Given the description of an element on the screen output the (x, y) to click on. 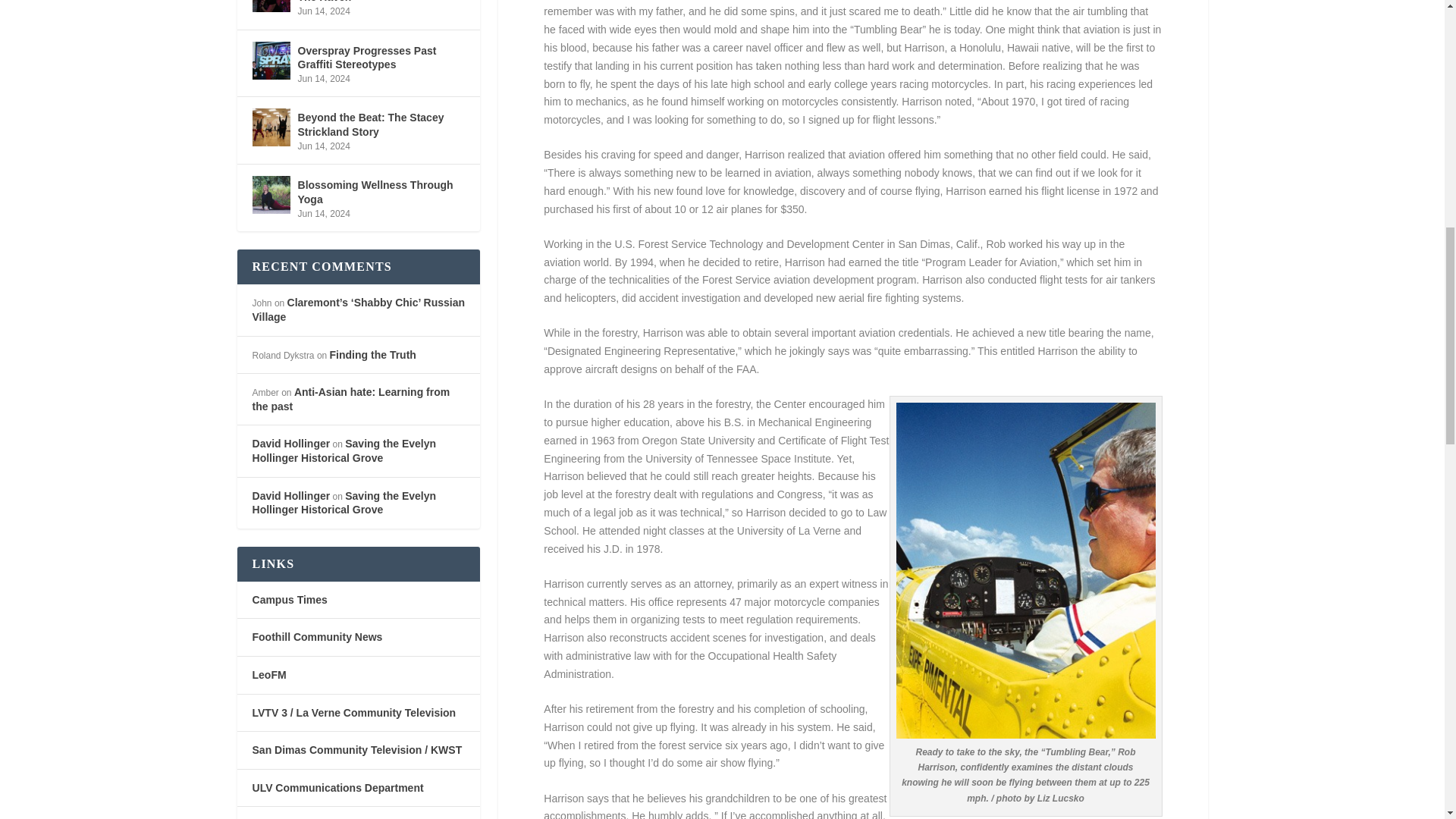
Making Music and Memories at The Haven (270, 6)
